Given the description of an element on the screen output the (x, y) to click on. 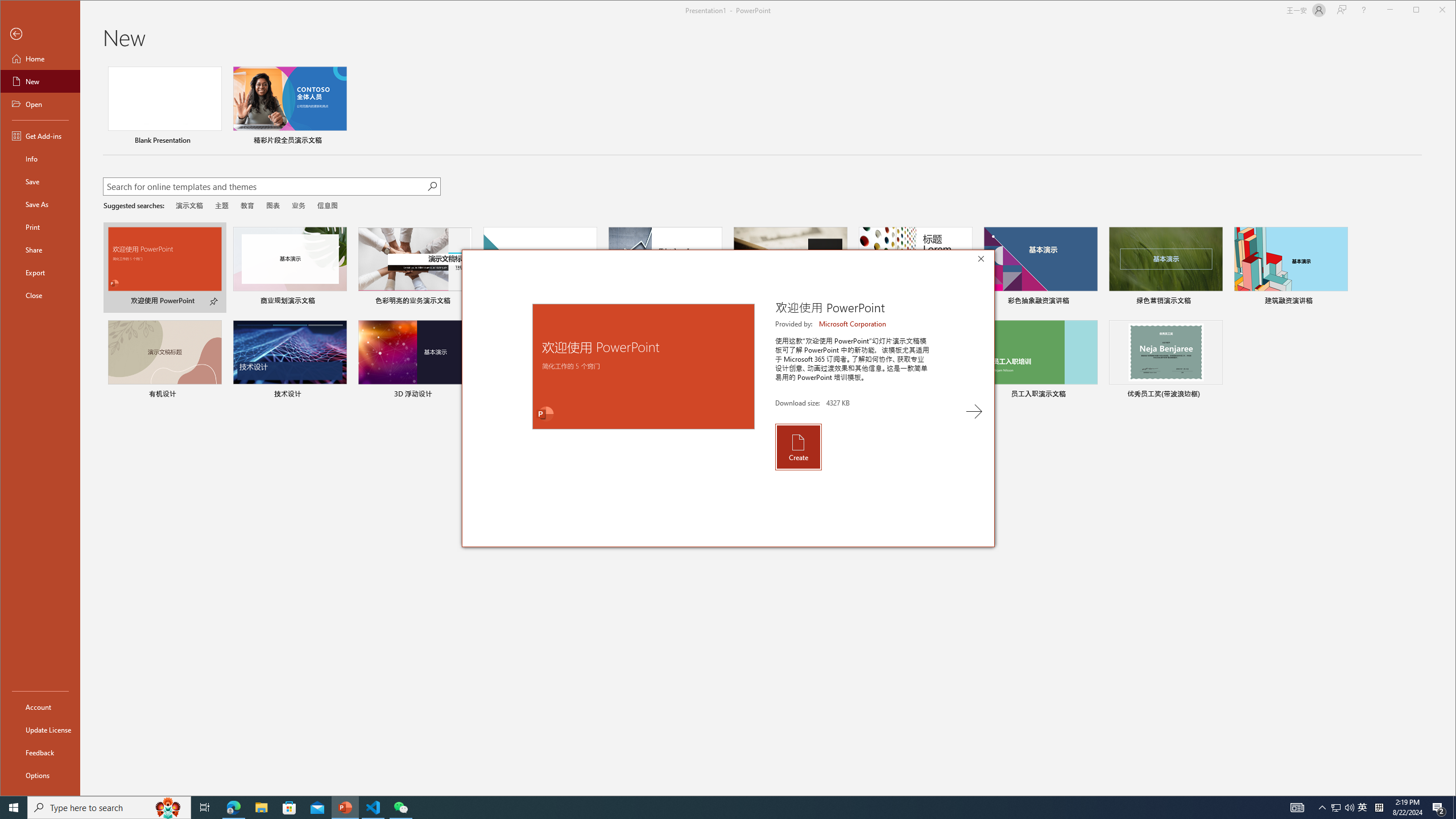
Update License (40, 729)
Class: NetUIScrollBar (1450, 428)
Get Add-ins (40, 135)
Account (40, 706)
Next Template (974, 411)
Print (40, 226)
Back (40, 34)
PowerPoint - 1 running window (345, 807)
Action Center, 2 new notifications (1439, 807)
